Given the description of an element on the screen output the (x, y) to click on. 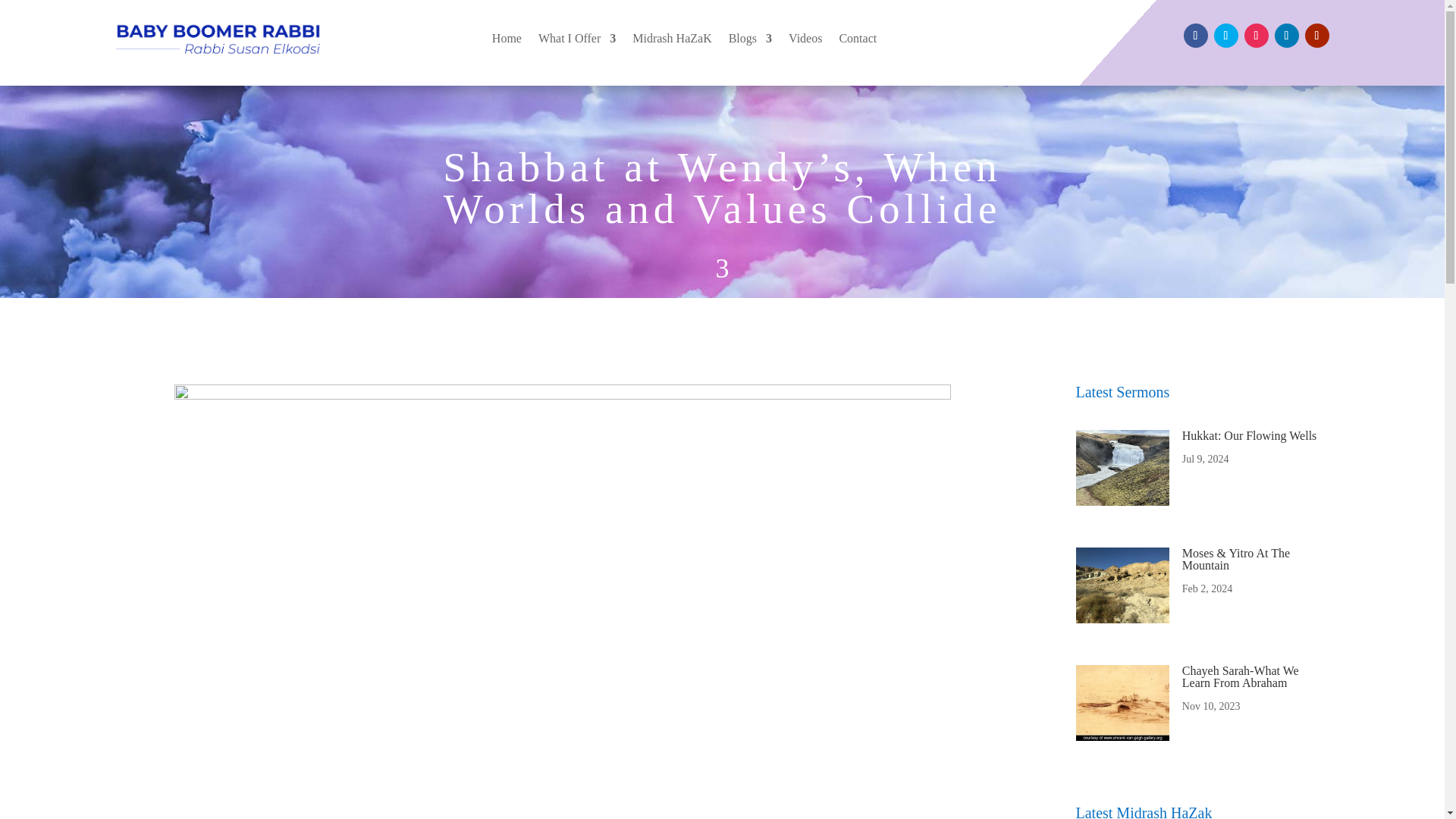
Follow on Facebook (1194, 35)
What I Offer (576, 38)
Midrash HaZaK (671, 38)
Follow on X (1224, 35)
Follow on Instagram (1255, 35)
Follow on LinkedIn (1286, 35)
Follow on Youtube (1315, 35)
